Given the description of an element on the screen output the (x, y) to click on. 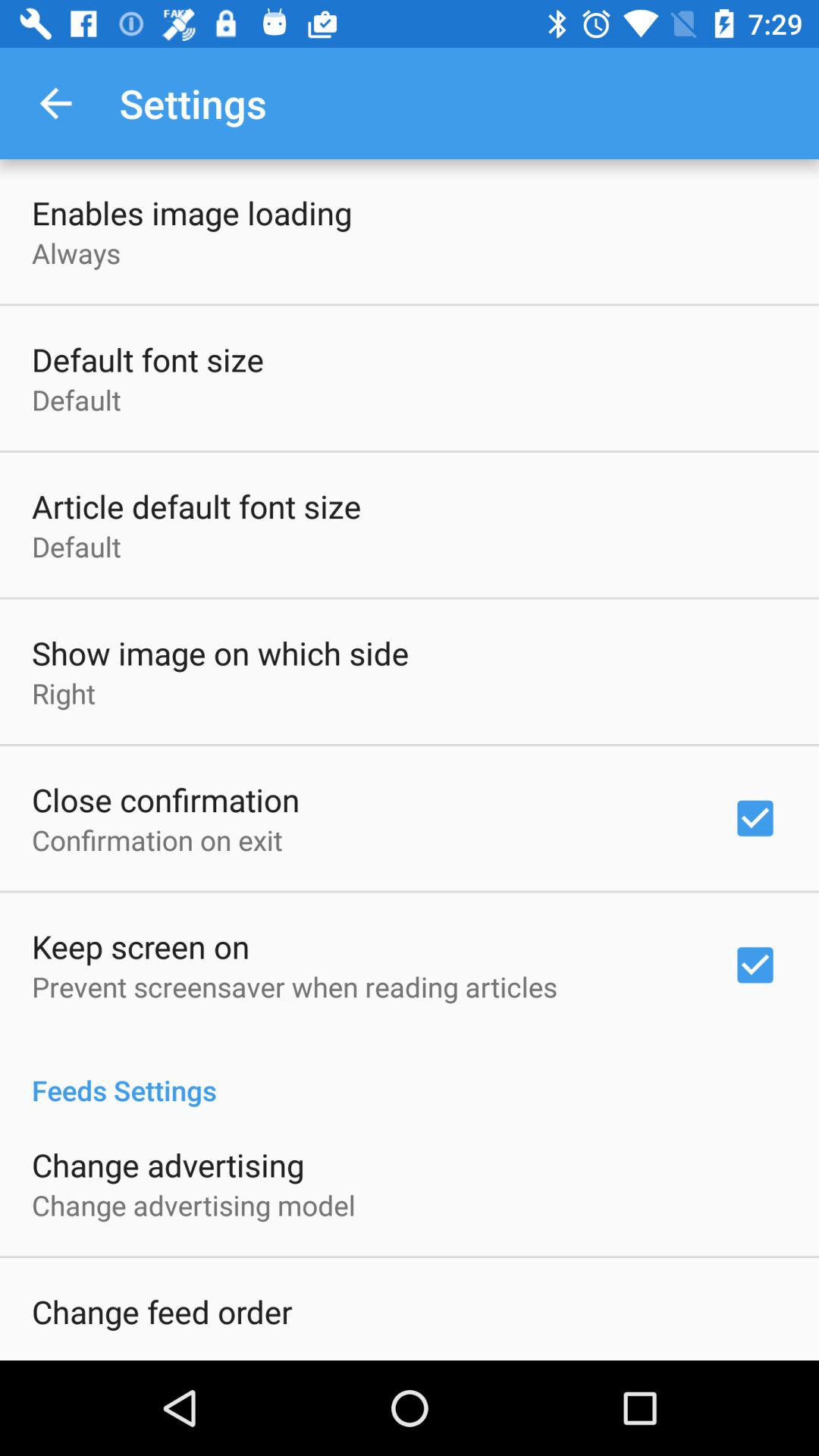
tap item above enables image loading icon (55, 103)
